Given the description of an element on the screen output the (x, y) to click on. 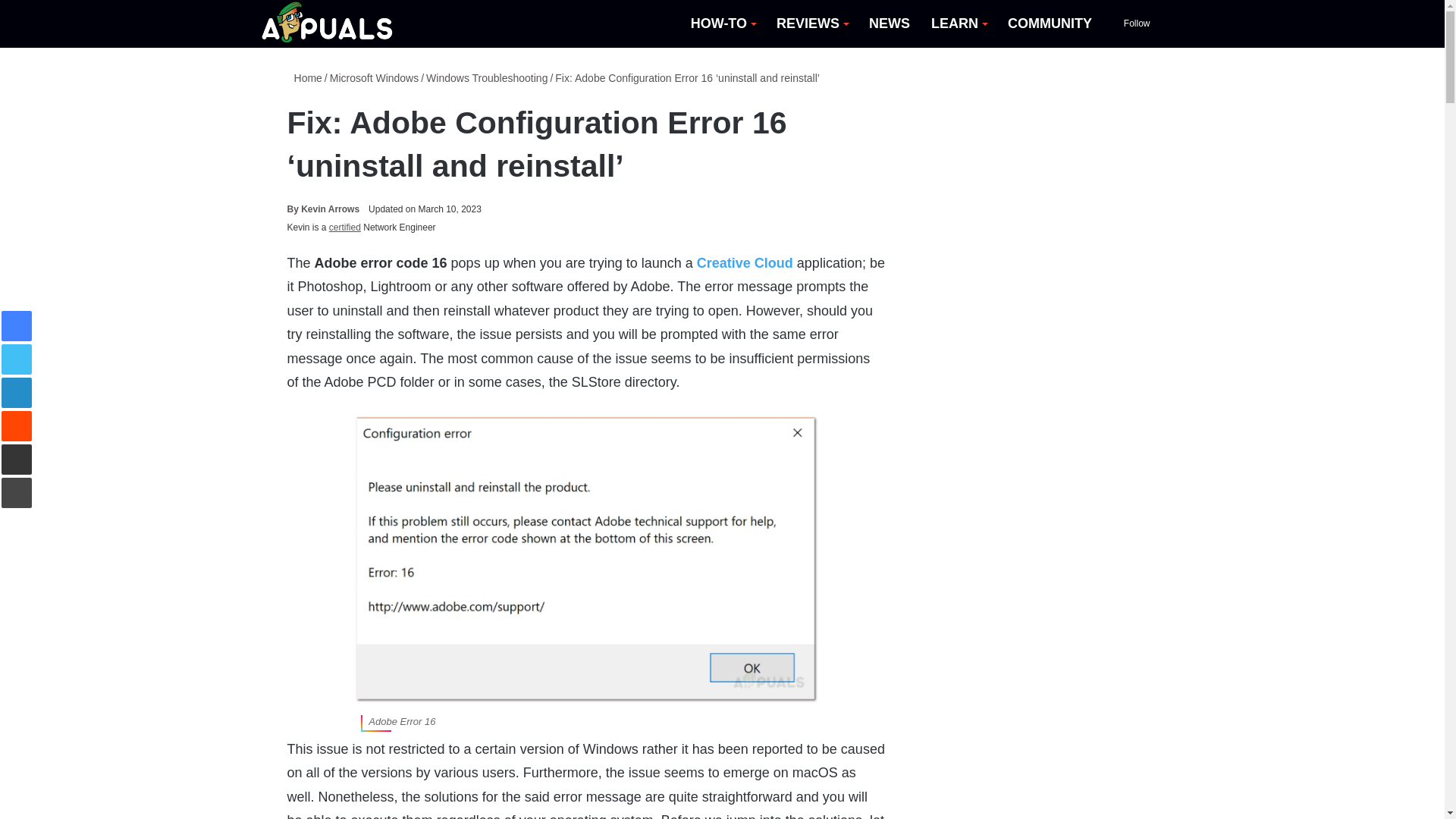
COMMUNITY (1049, 23)
LEARN (958, 23)
Appuals (327, 23)
Kevin Arrows (322, 208)
NEWS (889, 23)
LinkedIn (16, 392)
Reddit (16, 426)
Twitter (16, 358)
REVIEWS (812, 23)
Share via Email (16, 459)
Print (16, 492)
HOW-TO (722, 23)
Facebook (16, 326)
